Given the description of an element on the screen output the (x, y) to click on. 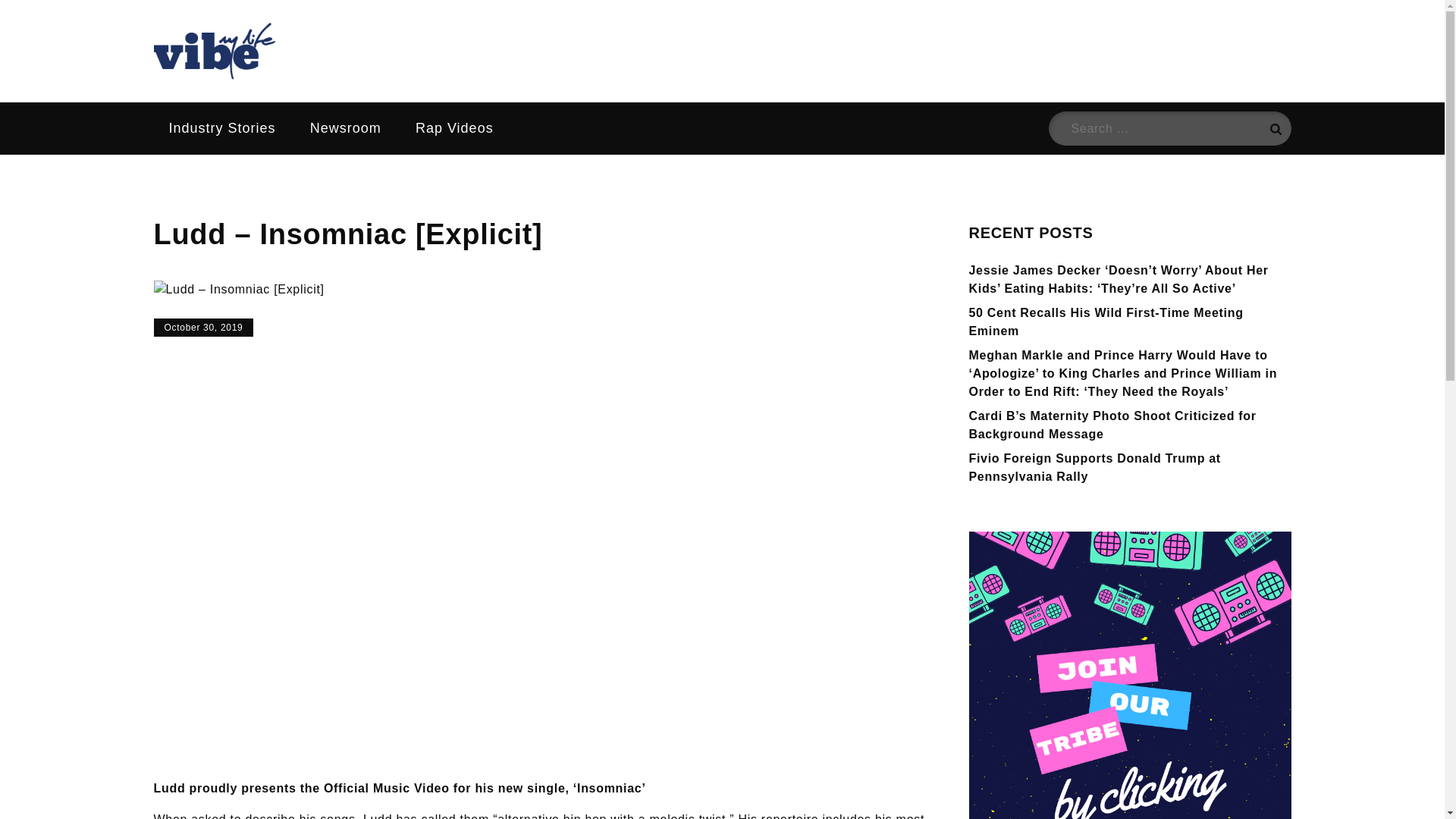
Newsroom (345, 127)
Vibe My Life (255, 96)
Fivio Foreign Supports Donald Trump at Pennsylvania Rally (1095, 467)
Rap Videos (454, 127)
50 Cent Recalls His Wild First-Time Meeting Eminem (1106, 321)
Industry Stories (220, 127)
Search (1274, 128)
October 30, 2019 (202, 327)
